Given the description of an element on the screen output the (x, y) to click on. 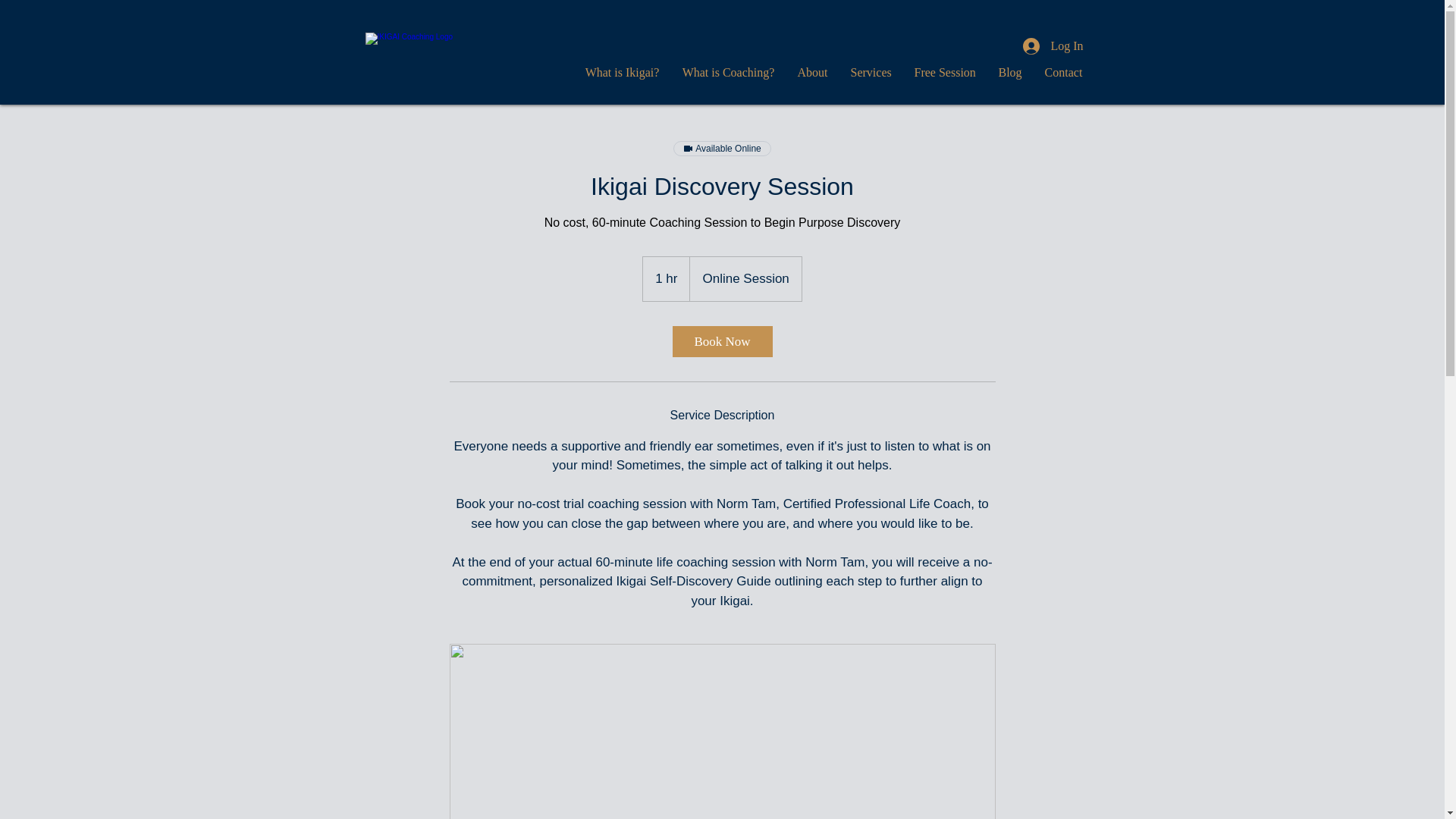
Book Now (721, 341)
Contact (1062, 72)
What is Coaching? (727, 72)
Log In (1052, 45)
What is Ikigai? (621, 72)
Free Session (944, 72)
